Given the description of an element on the screen output the (x, y) to click on. 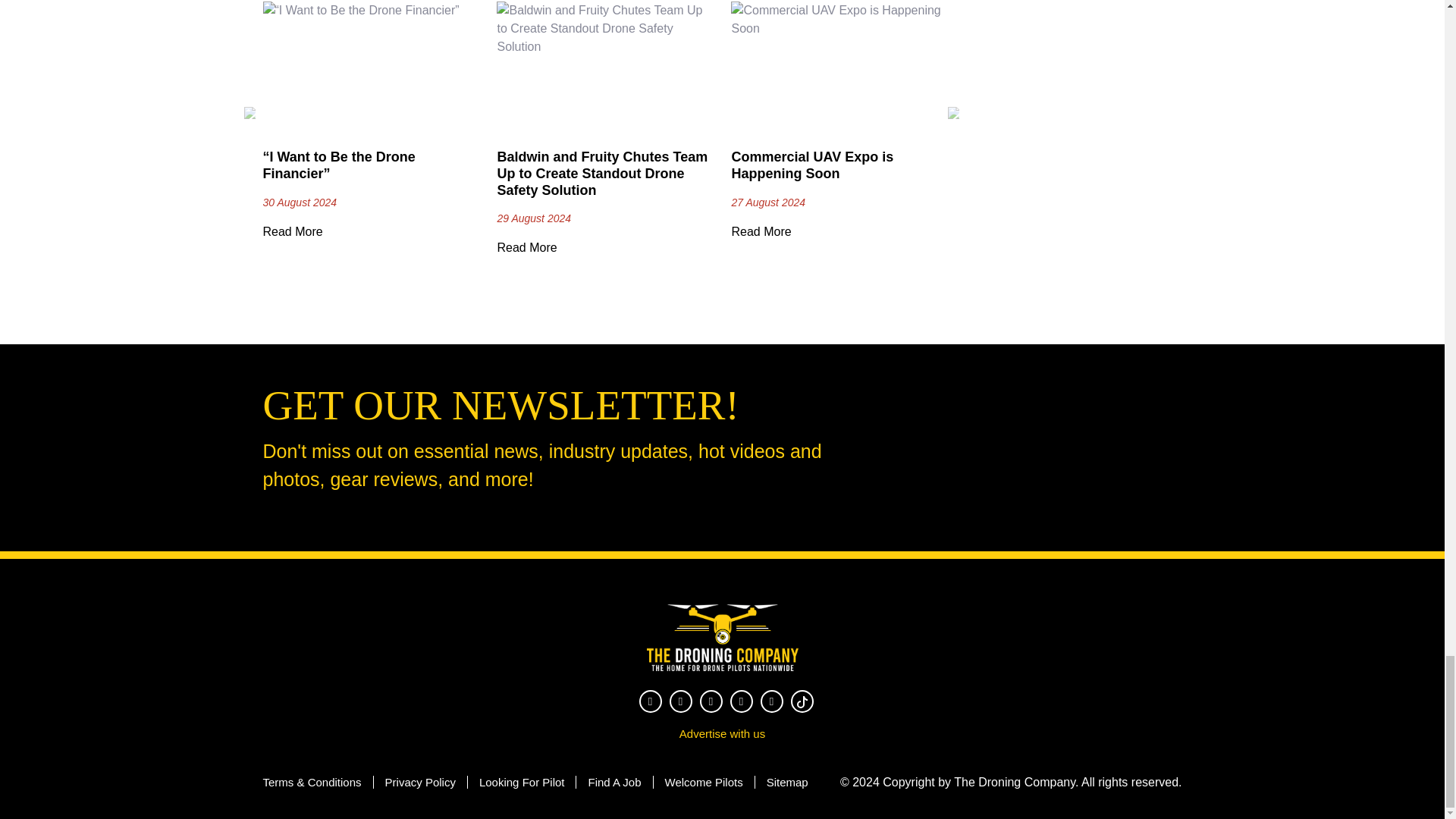
Read More (291, 231)
Read More (526, 246)
Commercial UAV Expo is Happening Soon (811, 164)
Read More (760, 231)
